Given the description of an element on the screen output the (x, y) to click on. 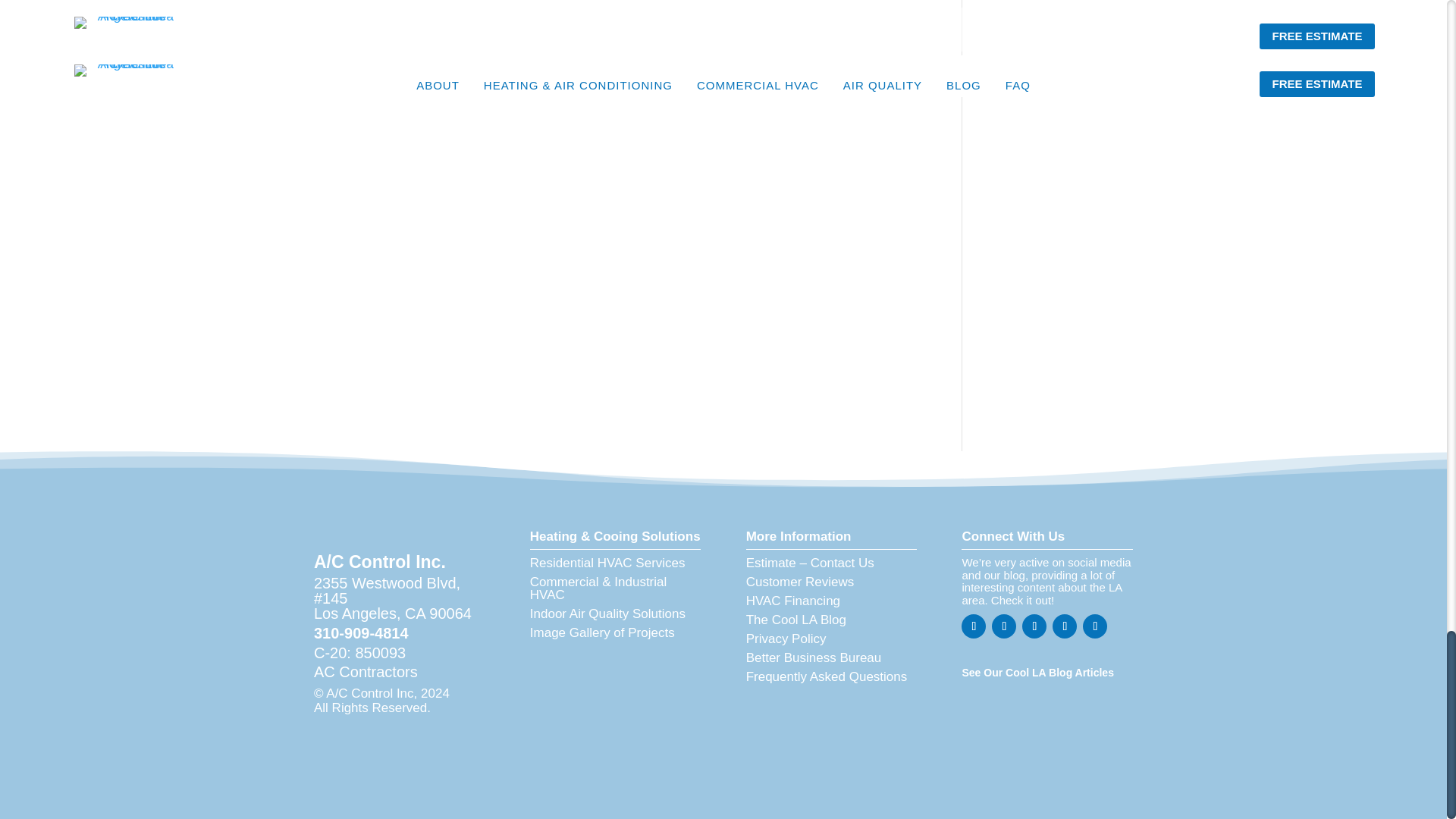
ac-control-logo (379, 525)
verteran-approved (614, 711)
Follow on Instagram (1003, 626)
Follow on LinkedIn (1034, 626)
Follow on Youtube (1064, 626)
Follow on Facebook (972, 626)
Follow on Google (1094, 626)
